Given the description of an element on the screen output the (x, y) to click on. 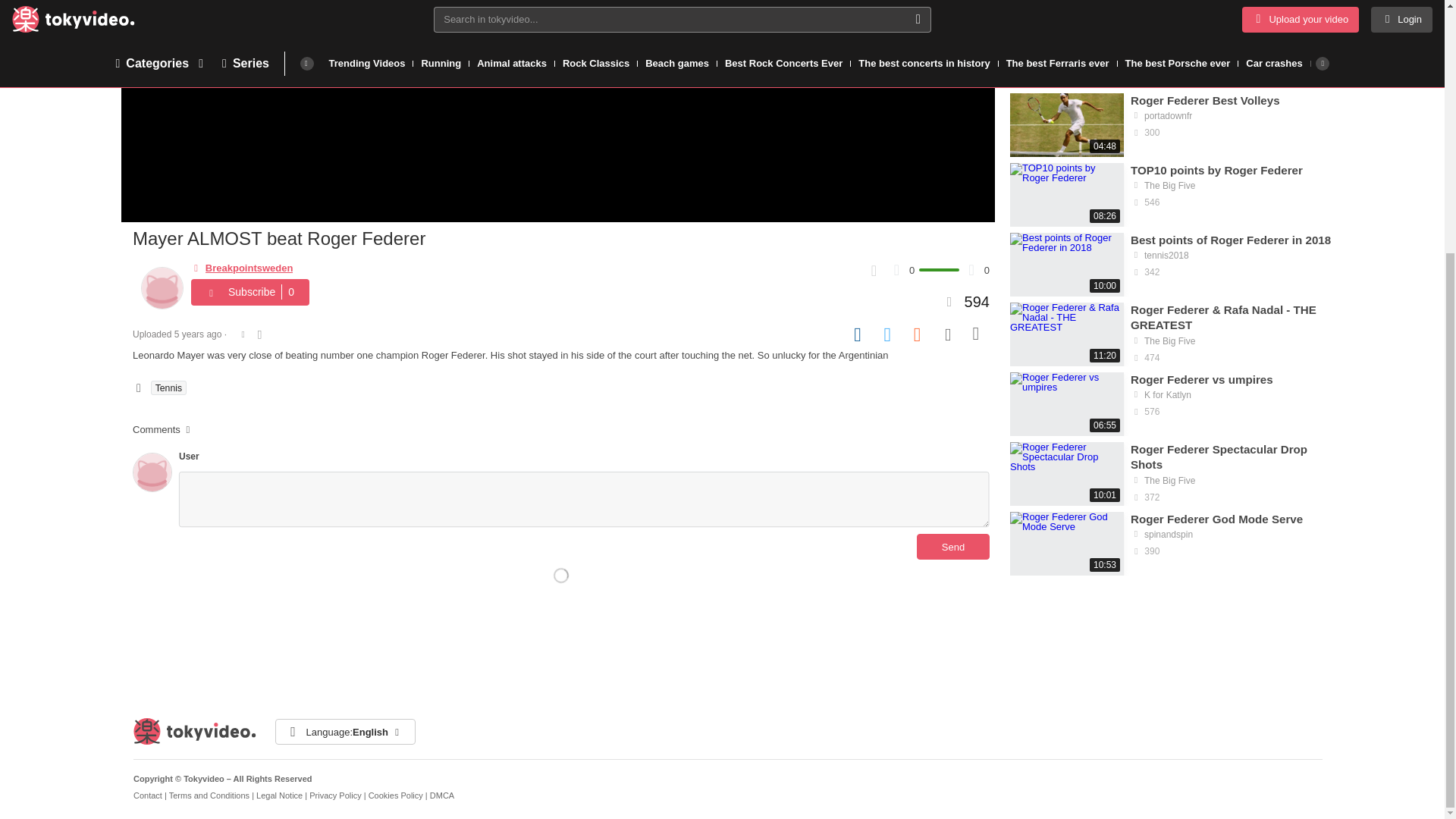
Share on Reddit (918, 333)
Send (953, 546)
